Given the description of an element on the screen output the (x, y) to click on. 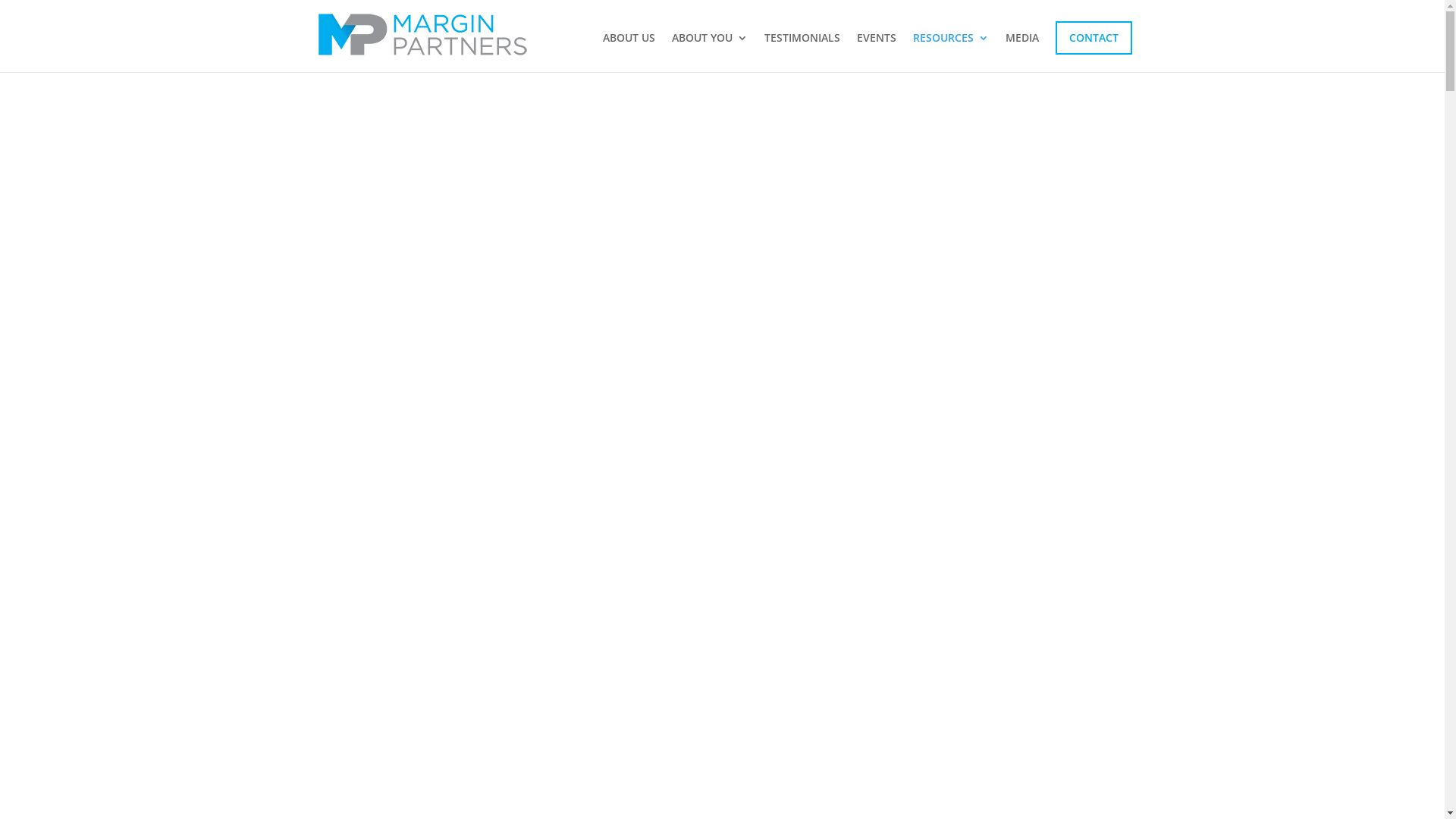
CONTACT Element type: text (1093, 37)
RESOURCES Element type: text (950, 52)
MEDIA Element type: text (1021, 52)
EVENTS Element type: text (876, 52)
TESTIMONIALS Element type: text (802, 52)
ABOUT YOU Element type: text (709, 52)
ABOUT US Element type: text (628, 52)
